Given the description of an element on the screen output the (x, y) to click on. 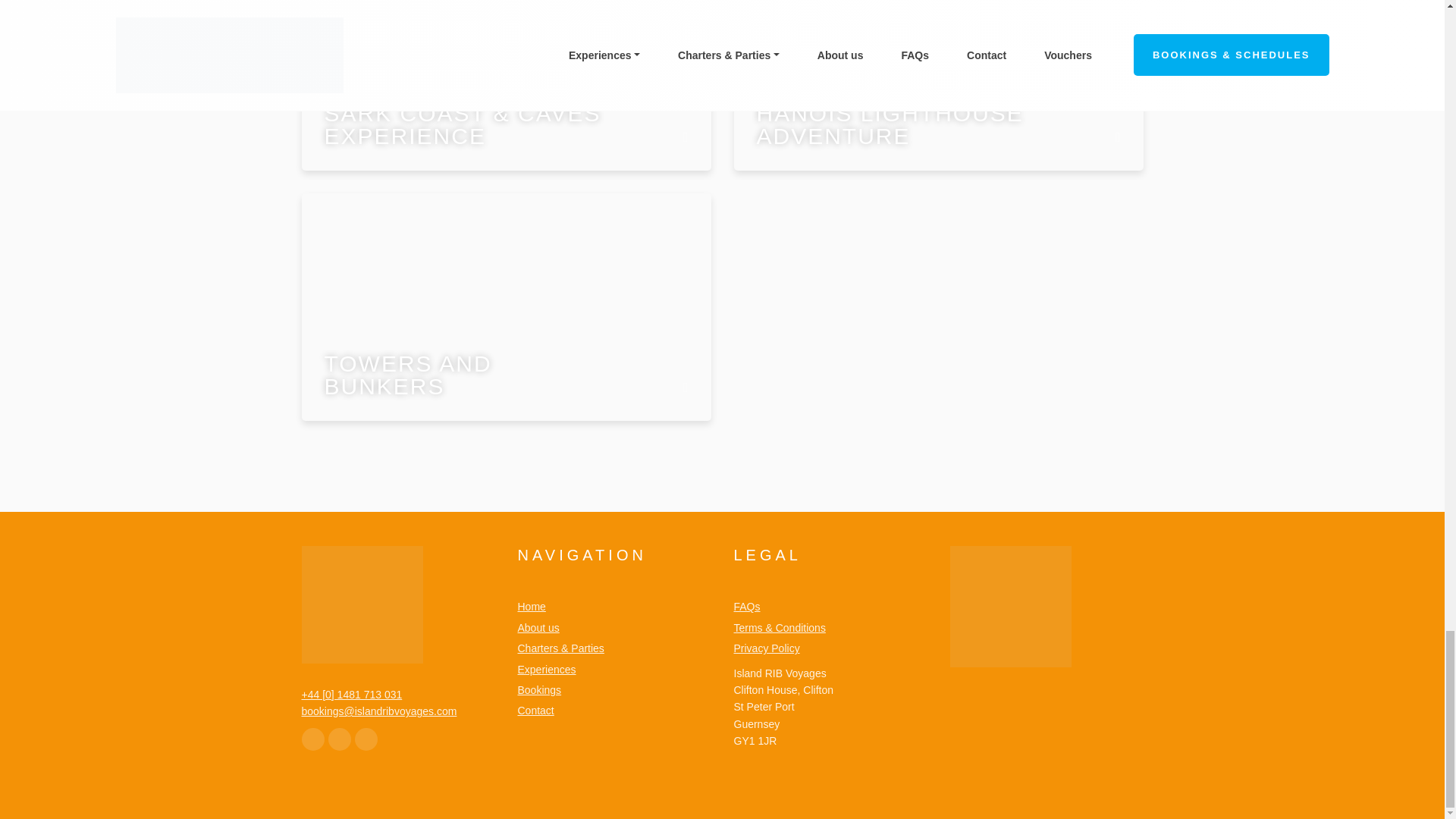
Home (530, 606)
TOWERS AND BUNKERS (506, 306)
About us (537, 628)
Experiences (545, 669)
Island Rib Voyages Guernsey (362, 604)
HANOIS LIGHTHOUSE ADVENTURE (937, 85)
